Given the description of an element on the screen output the (x, y) to click on. 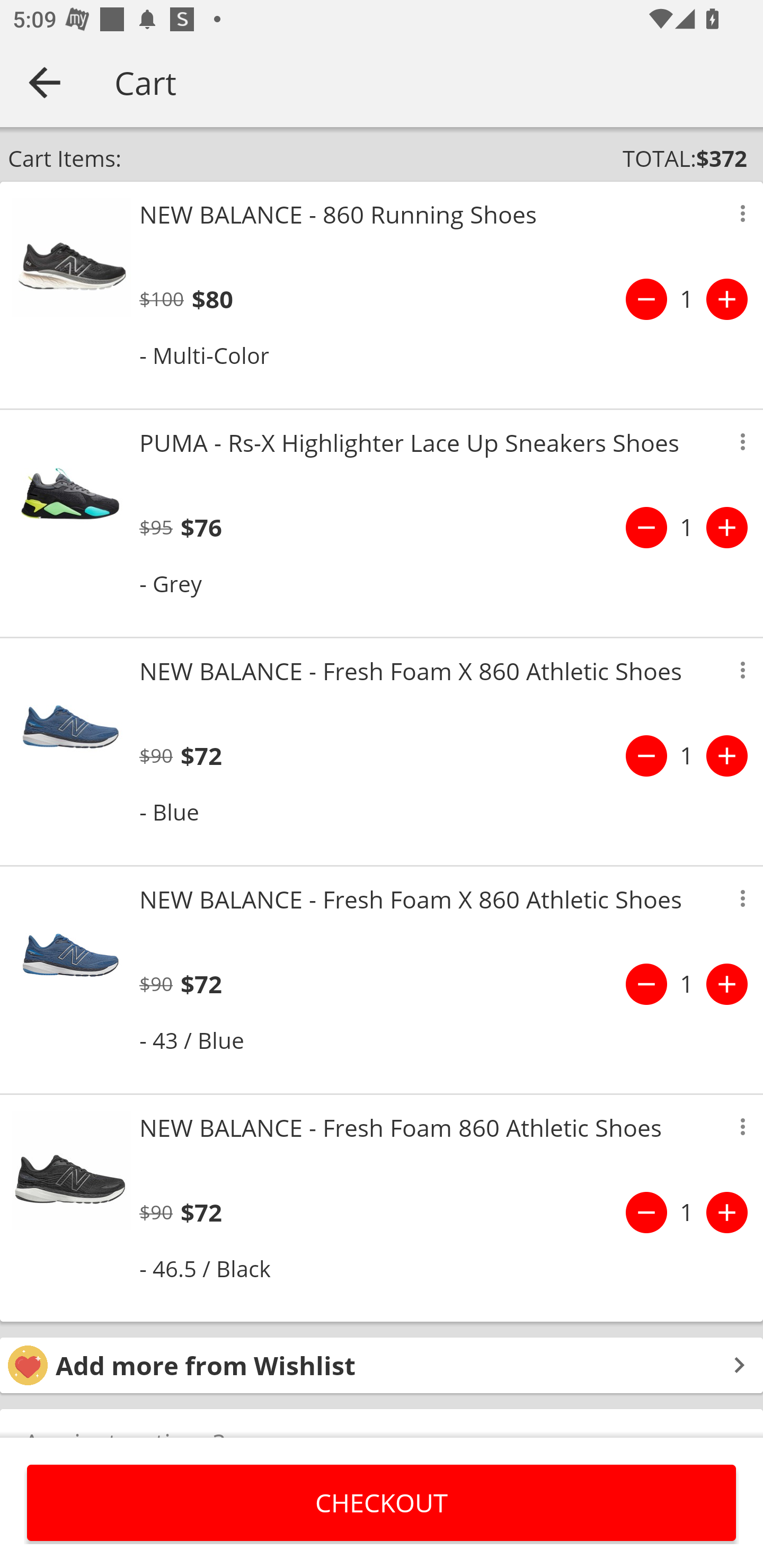
Navigate up (44, 82)
1 (686, 299)
1 (686, 527)
1 (686, 755)
1 (686, 984)
1 (686, 1211)
Add more from Wishlist (381, 1365)
CHECKOUT (381, 1502)
